Given the description of an element on the screen output the (x, y) to click on. 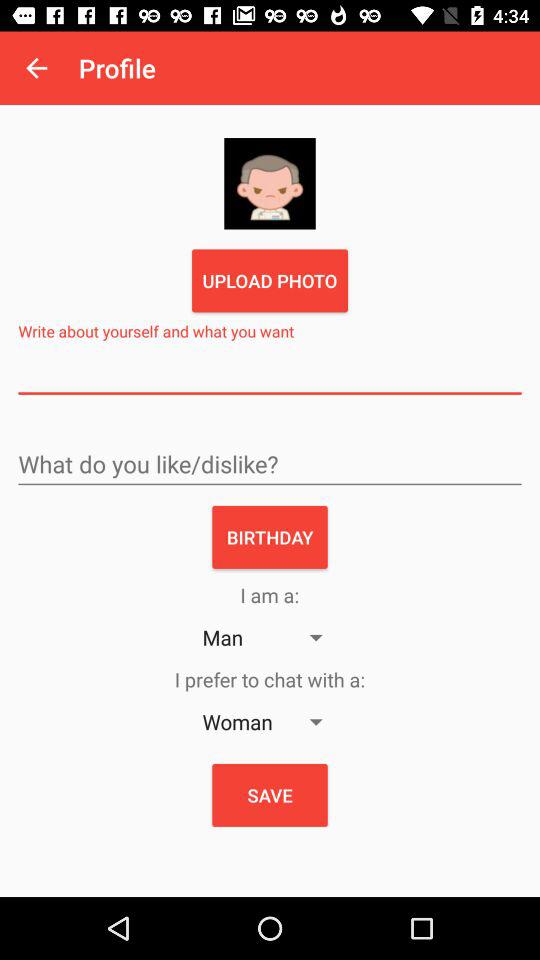
enter text (269, 373)
